Given the description of an element on the screen output the (x, y) to click on. 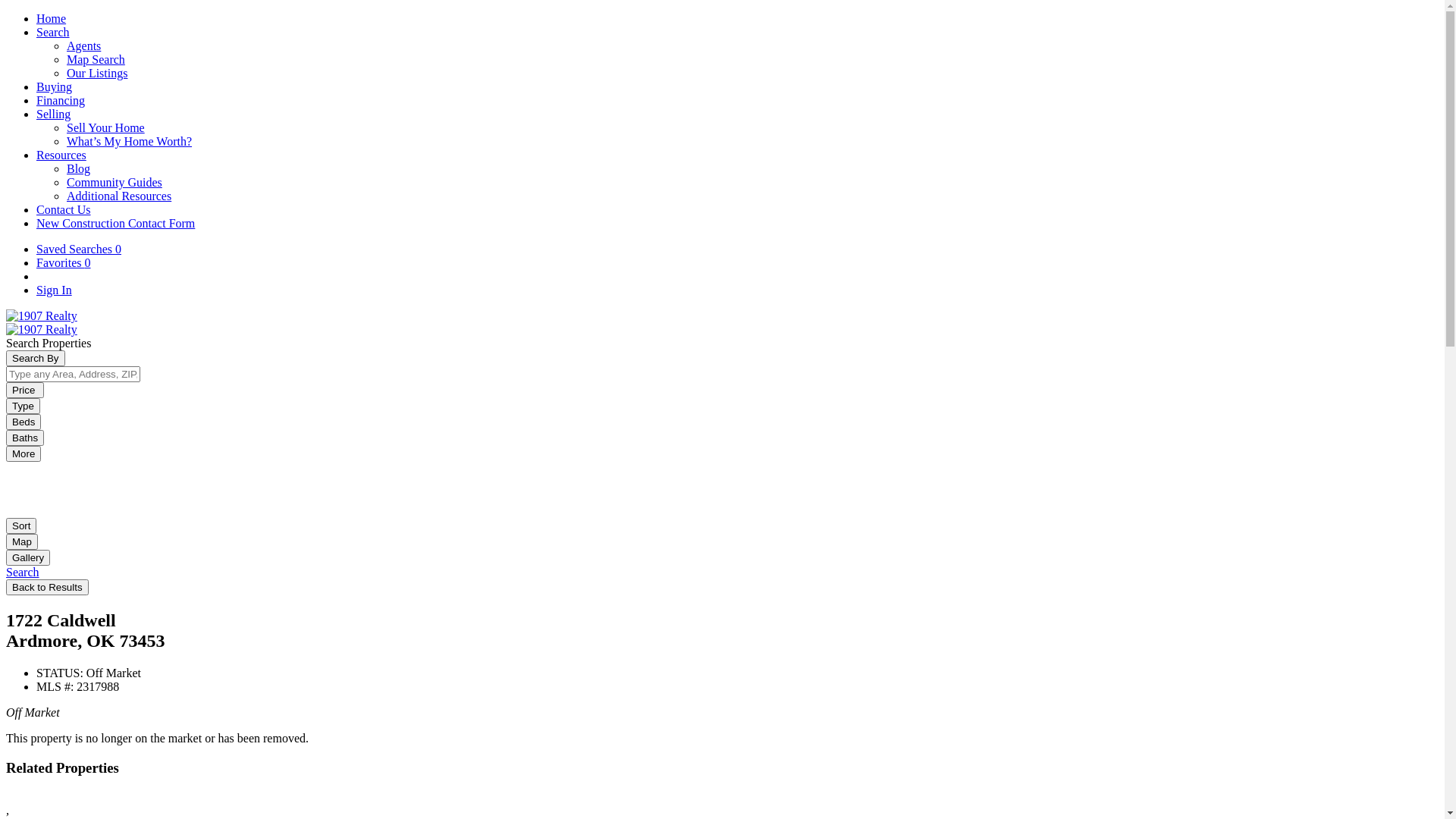
Resources Element type: text (61, 154)
Gallery Element type: text (28, 556)
Contact Us Element type: text (63, 209)
Buying Element type: text (54, 86)
Our Listings Element type: text (96, 72)
Search Element type: text (52, 31)
Additional Resources Element type: text (118, 195)
Selling Element type: text (53, 113)
Financing Element type: text (60, 100)
New Construction Contact Form Element type: text (115, 222)
Back to Results Element type: text (47, 587)
Map Search Element type: text (95, 59)
More Element type: text (23, 453)
Blog Element type: text (78, 168)
Sort Element type: text (21, 525)
Search Element type: text (22, 571)
Home Element type: text (50, 18)
Search By Element type: text (35, 358)
Map Element type: text (21, 540)
Favorites 0 Element type: text (63, 262)
Type Element type: text (23, 406)
Price  Element type: text (24, 390)
Agents Element type: text (83, 45)
Beds Element type: text (23, 421)
Community Guides Element type: text (114, 181)
Map Element type: text (21, 541)
Sell Your Home Element type: text (105, 127)
Saved Searches 0 Element type: text (78, 248)
Sign In Element type: text (54, 289)
Baths Element type: text (24, 437)
Gallery Element type: text (28, 557)
